Given the description of an element on the screen output the (x, y) to click on. 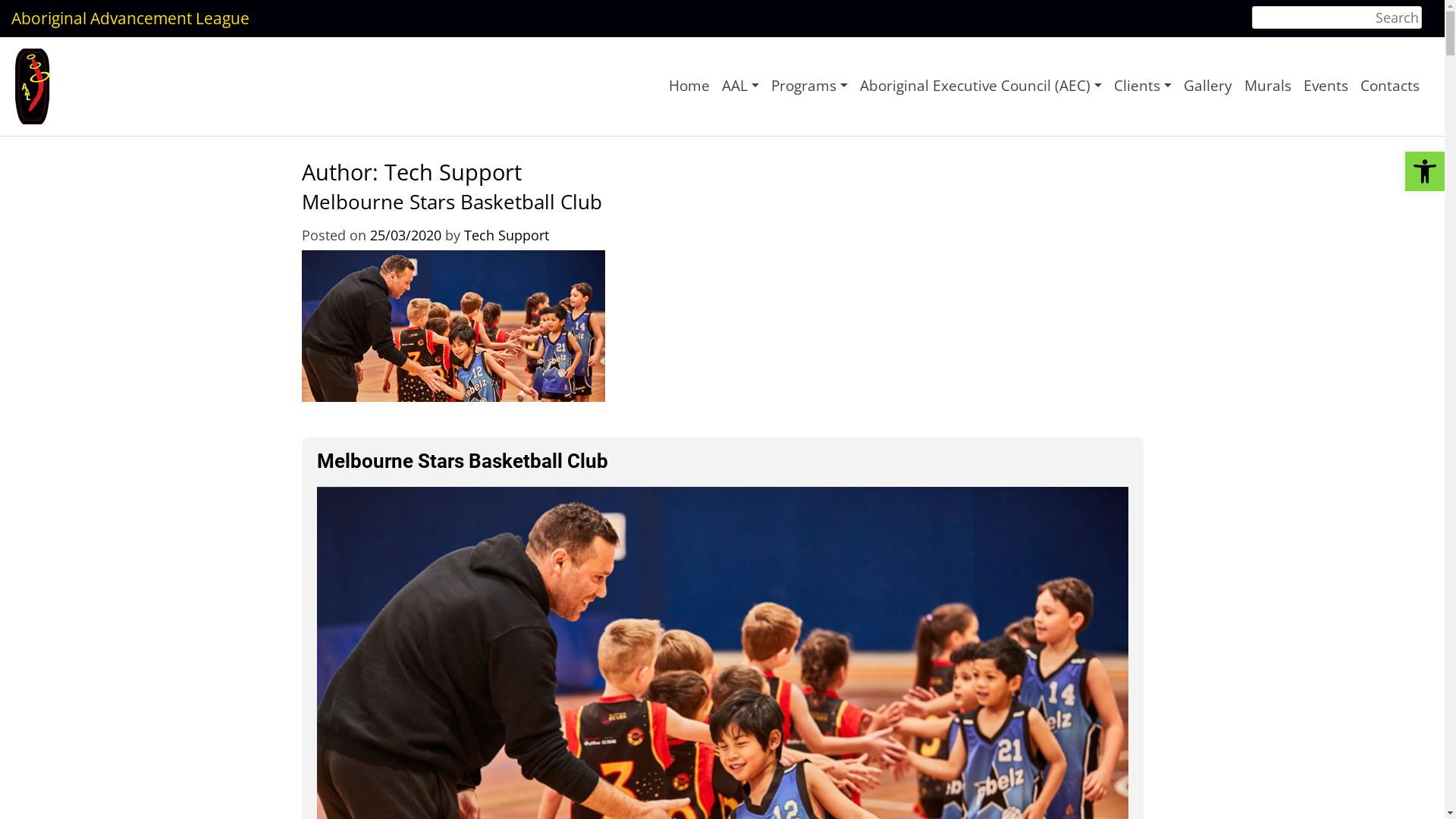
Open toolbar Element type: text (1424, 171)
AAL Element type: text (740, 85)
Aboriginal Executive Council (AEC) Element type: text (980, 85)
Contacts Element type: text (1389, 85)
Home Element type: text (688, 85)
Clients Element type: text (1142, 85)
25/03/2020 Element type: text (405, 234)
Murals Element type: text (1267, 85)
Programs Element type: text (809, 85)
Melbourne Stars Basketball Club Element type: text (451, 201)
Events Element type: text (1325, 85)
Tech Support Element type: text (506, 234)
Gallery Element type: text (1207, 85)
Aboriginal Advancement League Element type: text (130, 17)
